Given the description of an element on the screen output the (x, y) to click on. 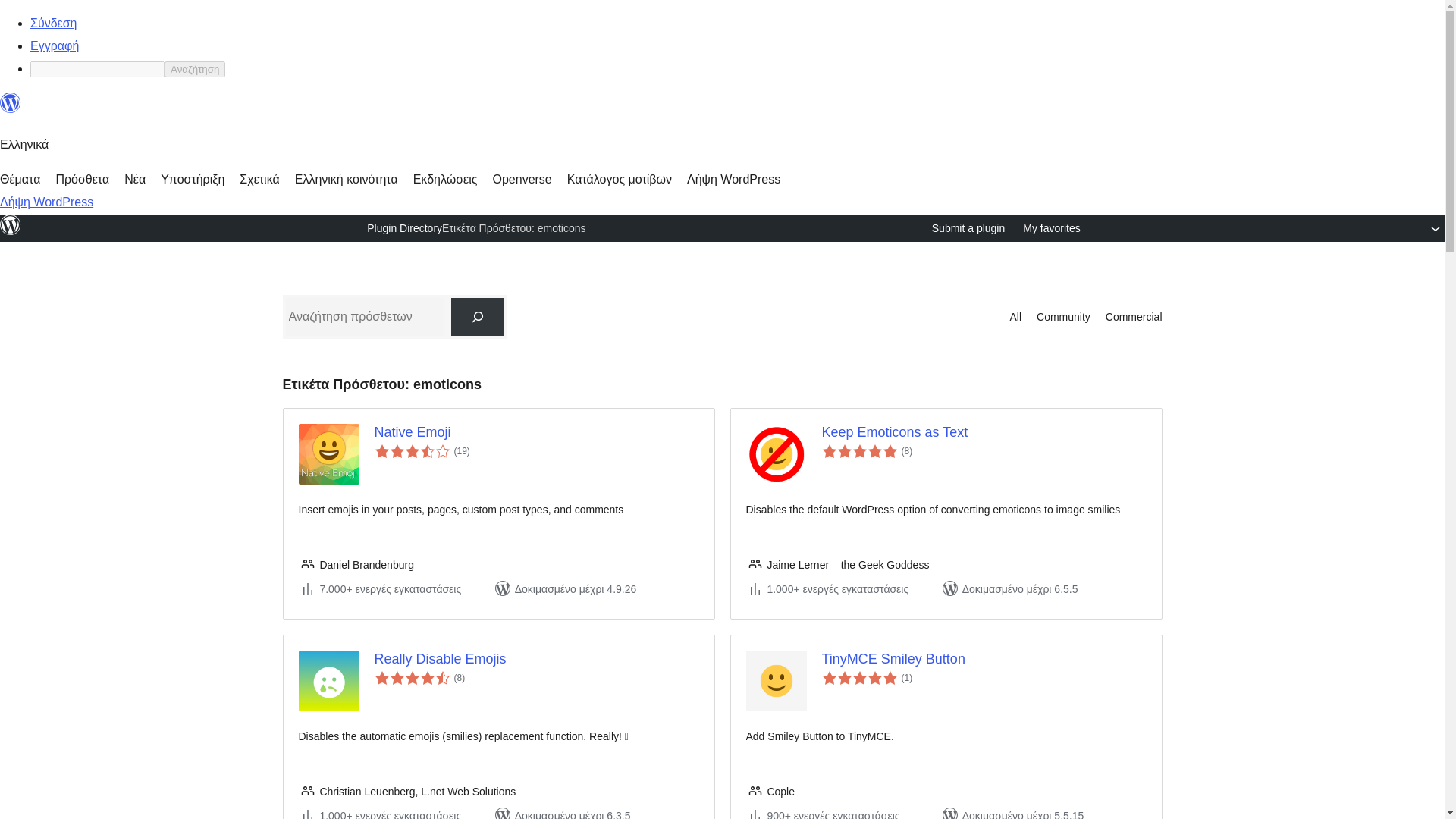
WordPress.org (10, 232)
Commercial (1133, 316)
Really Disable Emojis (536, 659)
WordPress.org (10, 224)
Keep Emoticons as Text (984, 432)
Submit a plugin (968, 228)
My favorites (1051, 228)
All (1015, 316)
WordPress.org (10, 109)
Openverse (521, 179)
Community (1063, 316)
TinyMCE Smiley Button (984, 659)
Native Emoji (536, 432)
Plugin Directory (404, 227)
WordPress.org (10, 102)
